Given the description of an element on the screen output the (x, y) to click on. 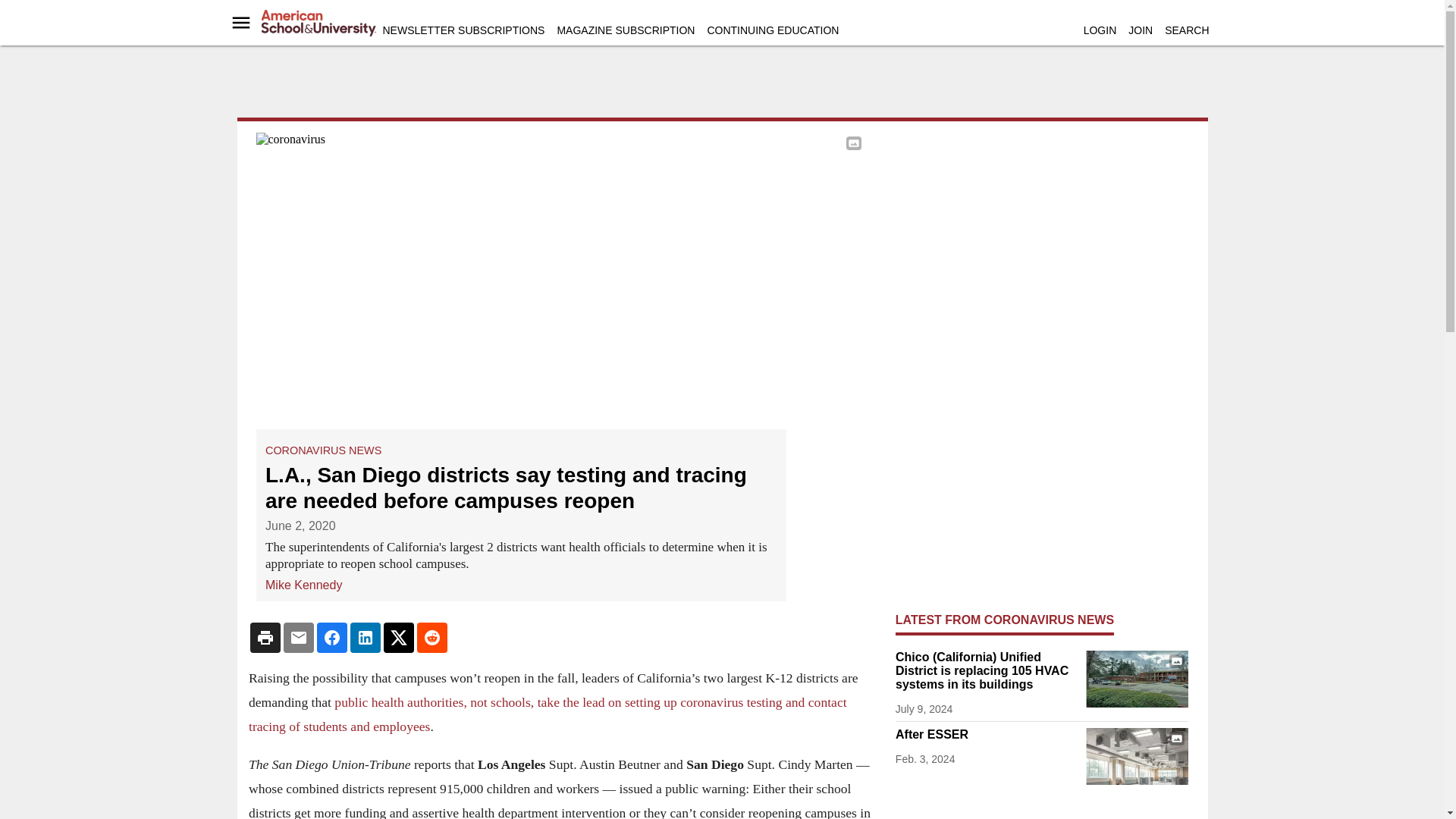
Mike Kennedy (303, 585)
CONTINUING EDUCATION (772, 30)
SEARCH (1186, 30)
MAGAZINE SUBSCRIPTION (625, 30)
NEWSLETTER SUBSCRIPTIONS (462, 30)
CORONAVIRUS NEWS (322, 450)
JOIN (1140, 30)
LOGIN (1099, 30)
